Given the description of an element on the screen output the (x, y) to click on. 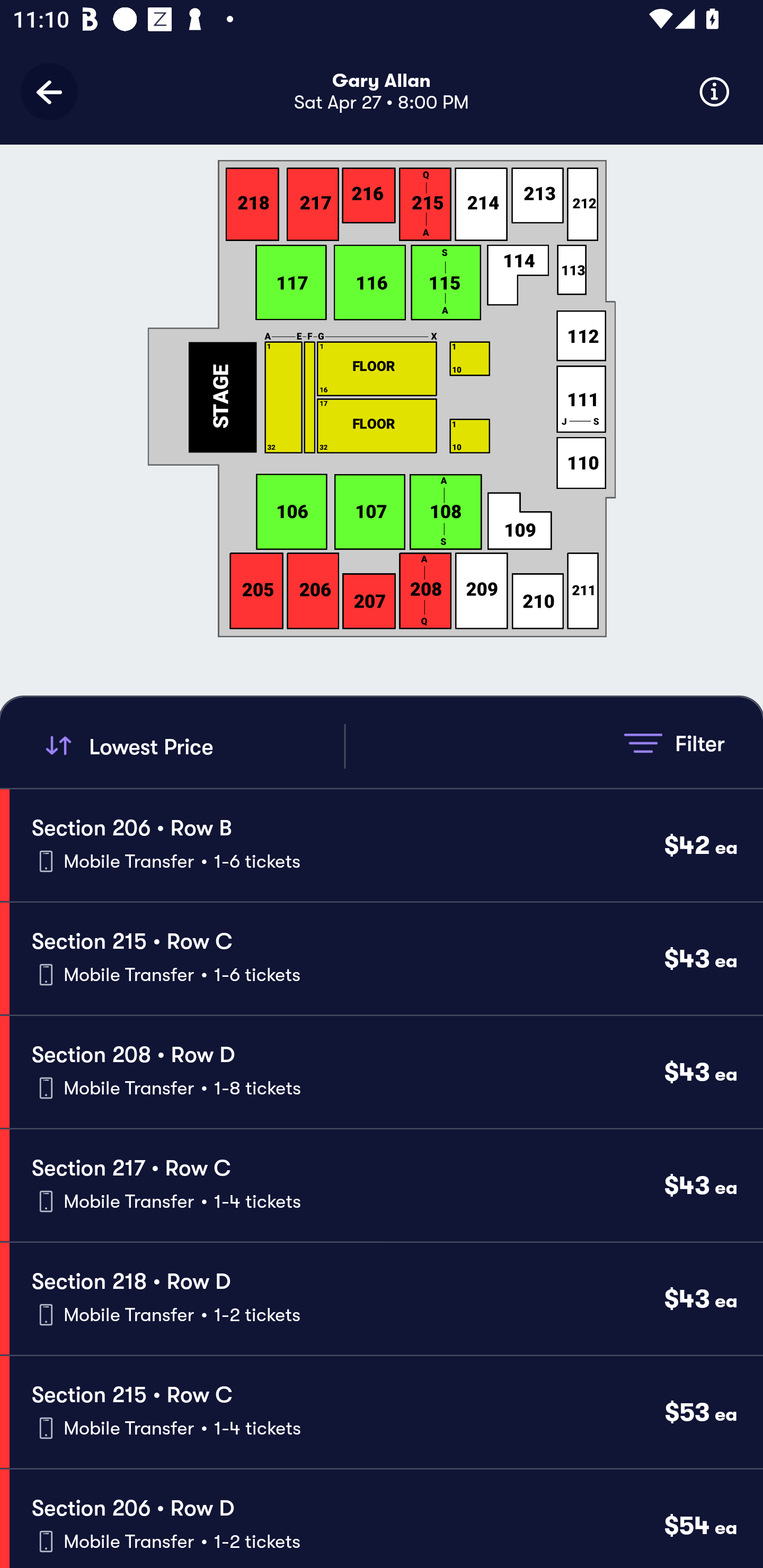
Lowest Price (191, 746)
Filter (674, 743)
